Given the description of an element on the screen output the (x, y) to click on. 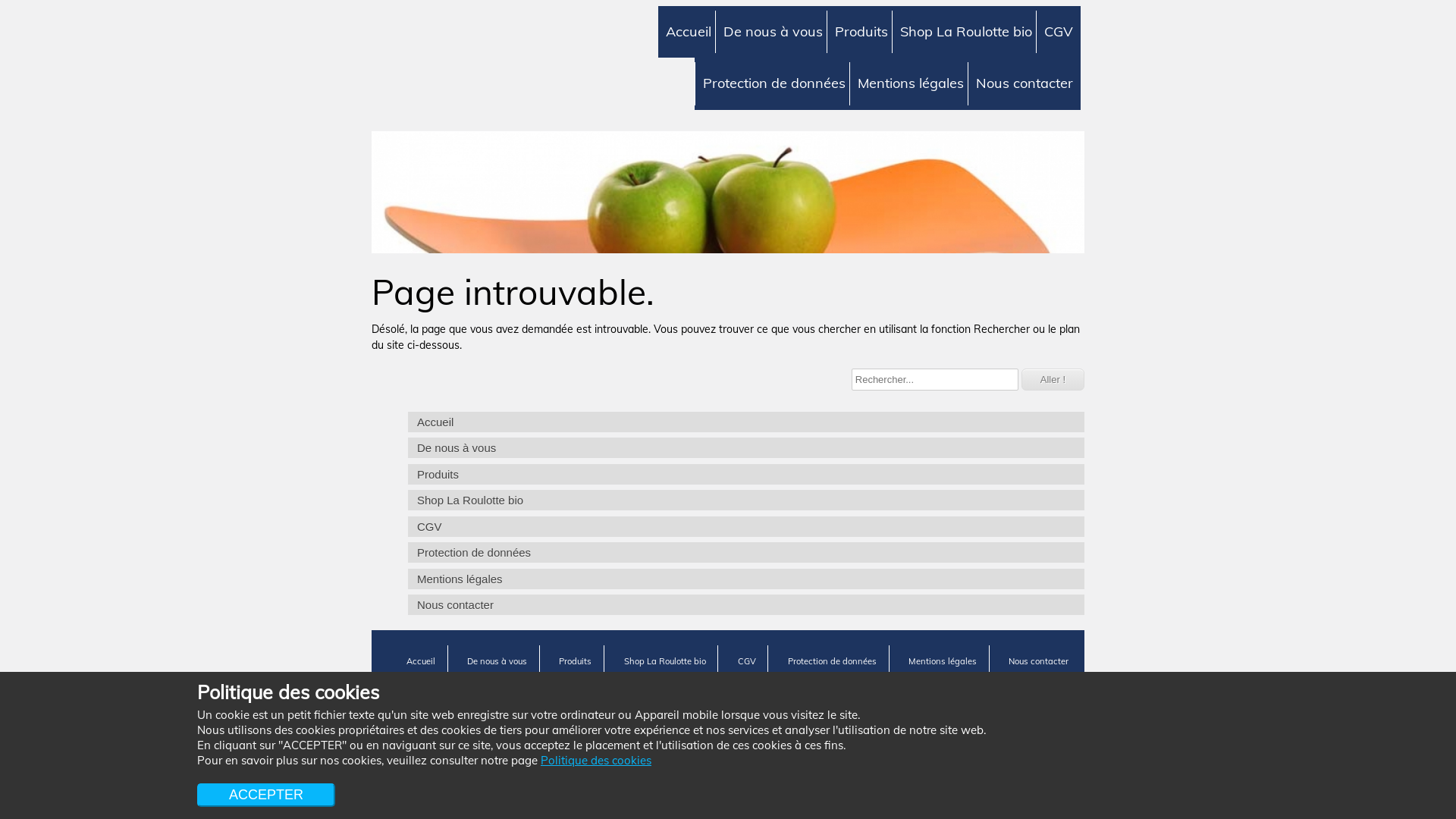
CGV Element type: text (745, 526)
CGV Element type: text (1057, 31)
Politique des cookies Element type: text (595, 760)
Nous contacter Element type: text (1023, 83)
Shop La Roulotte bio Element type: text (965, 31)
Produits Element type: text (745, 474)
Accueil Element type: text (688, 31)
ACCEPTER Element type: text (266, 794)
CGV Element type: text (746, 661)
Accueil Element type: text (420, 661)
Nous contacter Element type: text (1038, 661)
Accueil Element type: text (745, 421)
Shop La Roulotte bio Element type: text (745, 499)
Politique des cookies Element type: text (433, 685)
Nous contacter Element type: text (745, 604)
Produits Element type: text (575, 661)
Produits Element type: text (860, 31)
Shop La Roulotte bio Element type: text (664, 661)
